Given the description of an element on the screen output the (x, y) to click on. 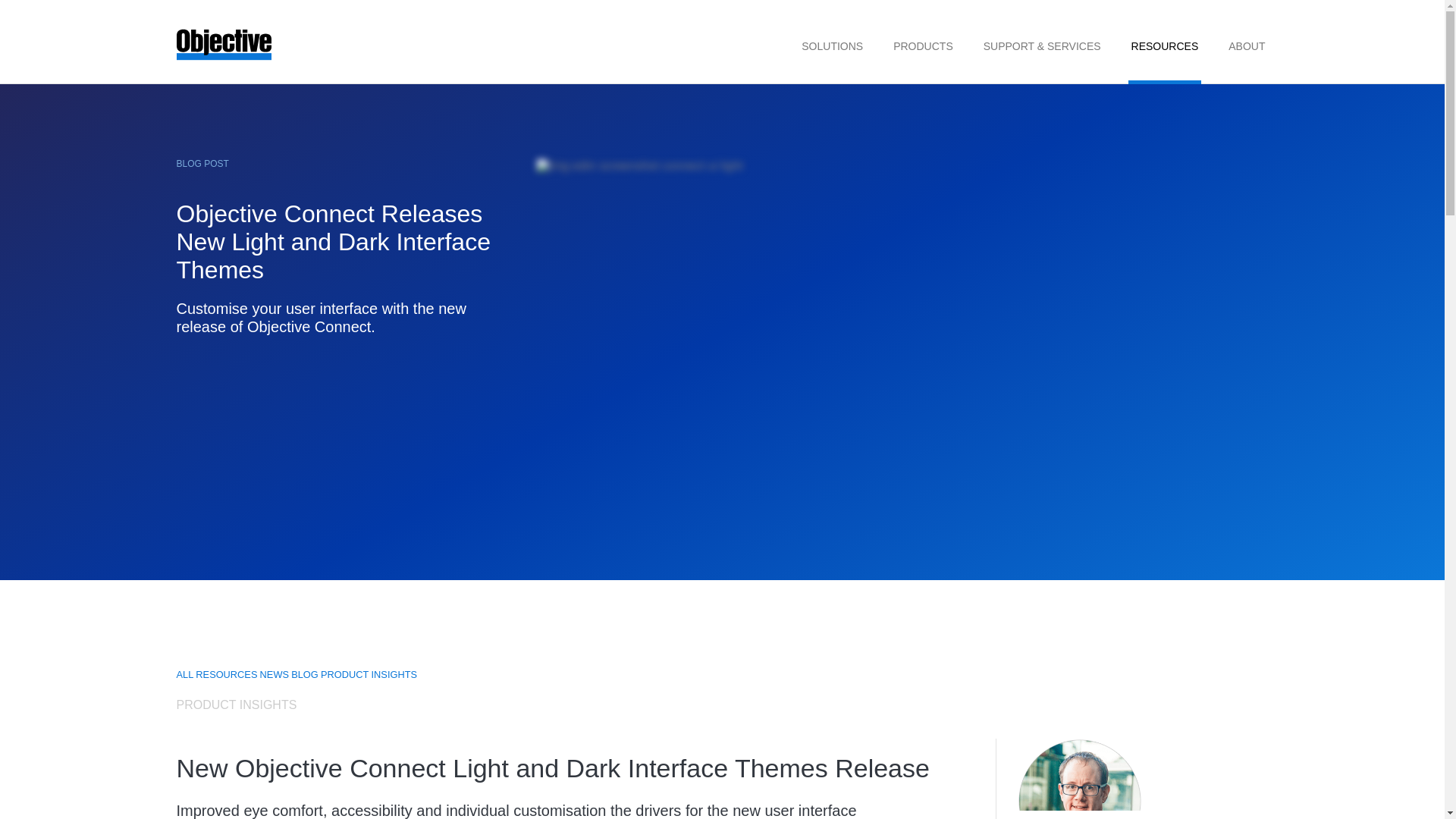
NEWS (274, 674)
ALL RESOURCES (216, 674)
BLOG (304, 674)
PRODUCT INSIGHTS (368, 674)
RESOURCES (1165, 43)
